Given the description of an element on the screen output the (x, y) to click on. 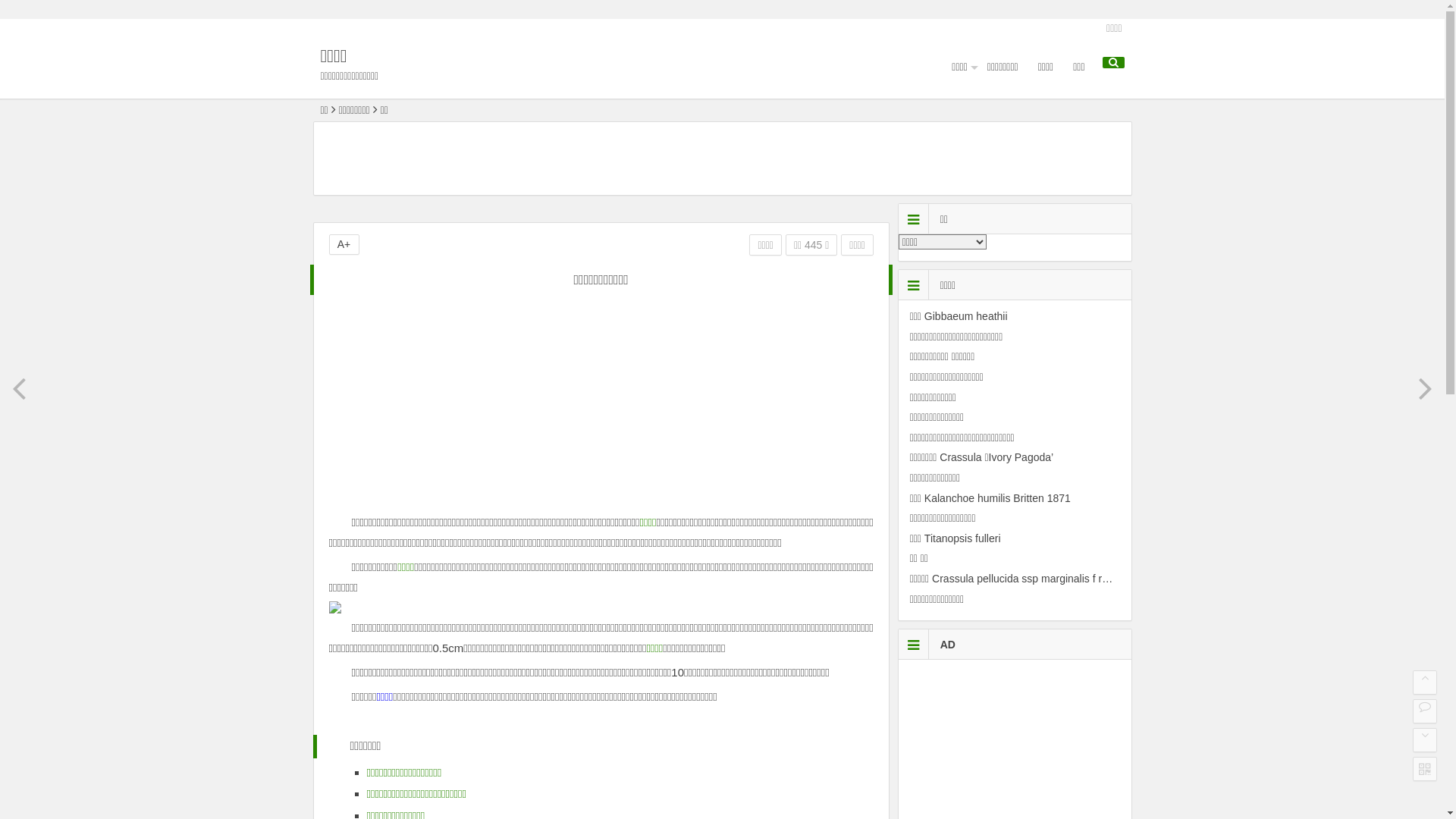
Advertisement Element type: hover (722, 160)
Advertisement Element type: hover (601, 409)
